Given the description of an element on the screen output the (x, y) to click on. 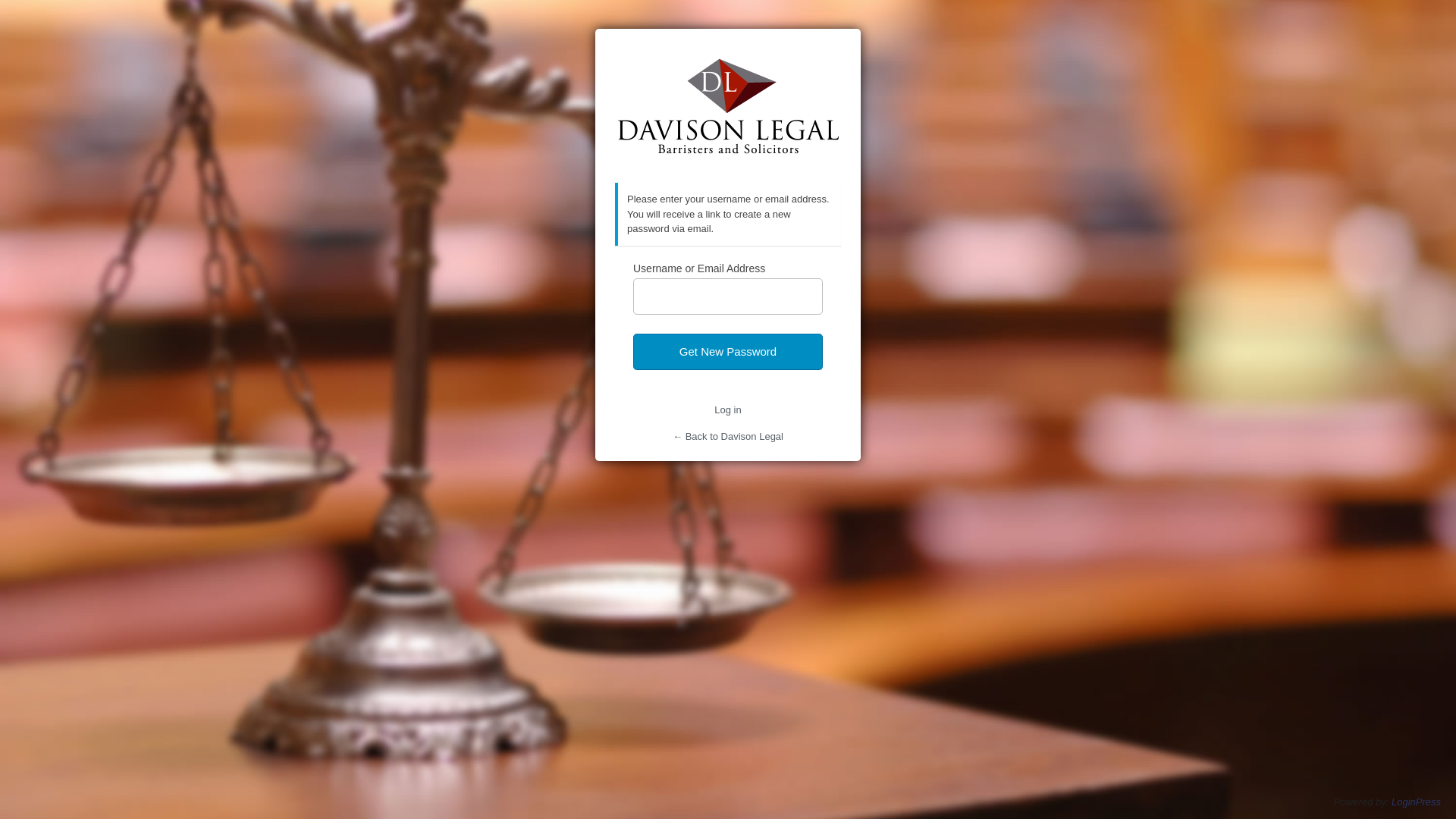
LoginPress Element type: text (1415, 801)
https://davisonlegal.com.au Element type: text (728, 105)
Log in Element type: text (727, 409)
Get New Password Element type: text (727, 351)
